Given the description of an element on the screen output the (x, y) to click on. 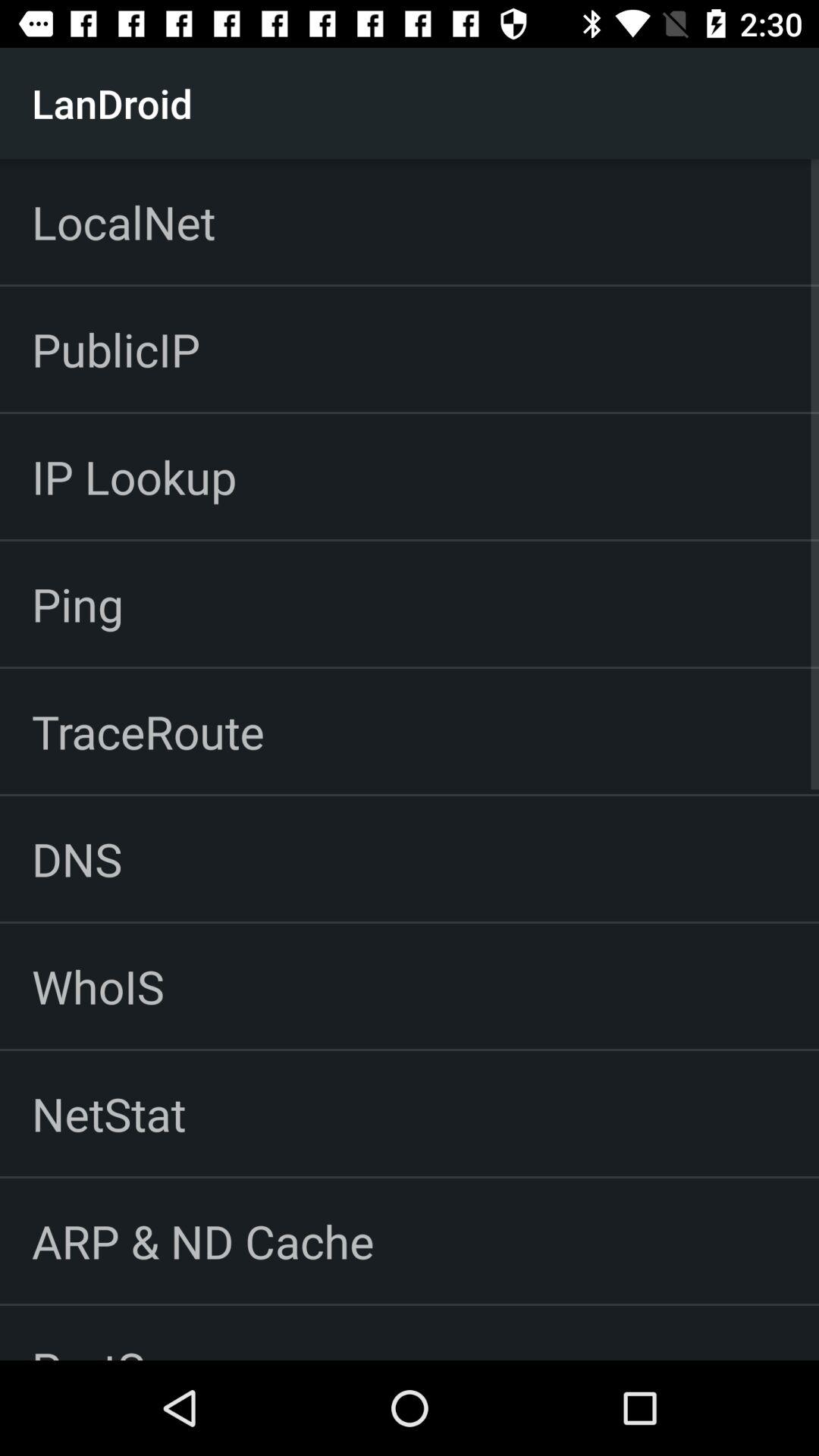
swipe to the publicip icon (116, 348)
